Given the description of an element on the screen output the (x, y) to click on. 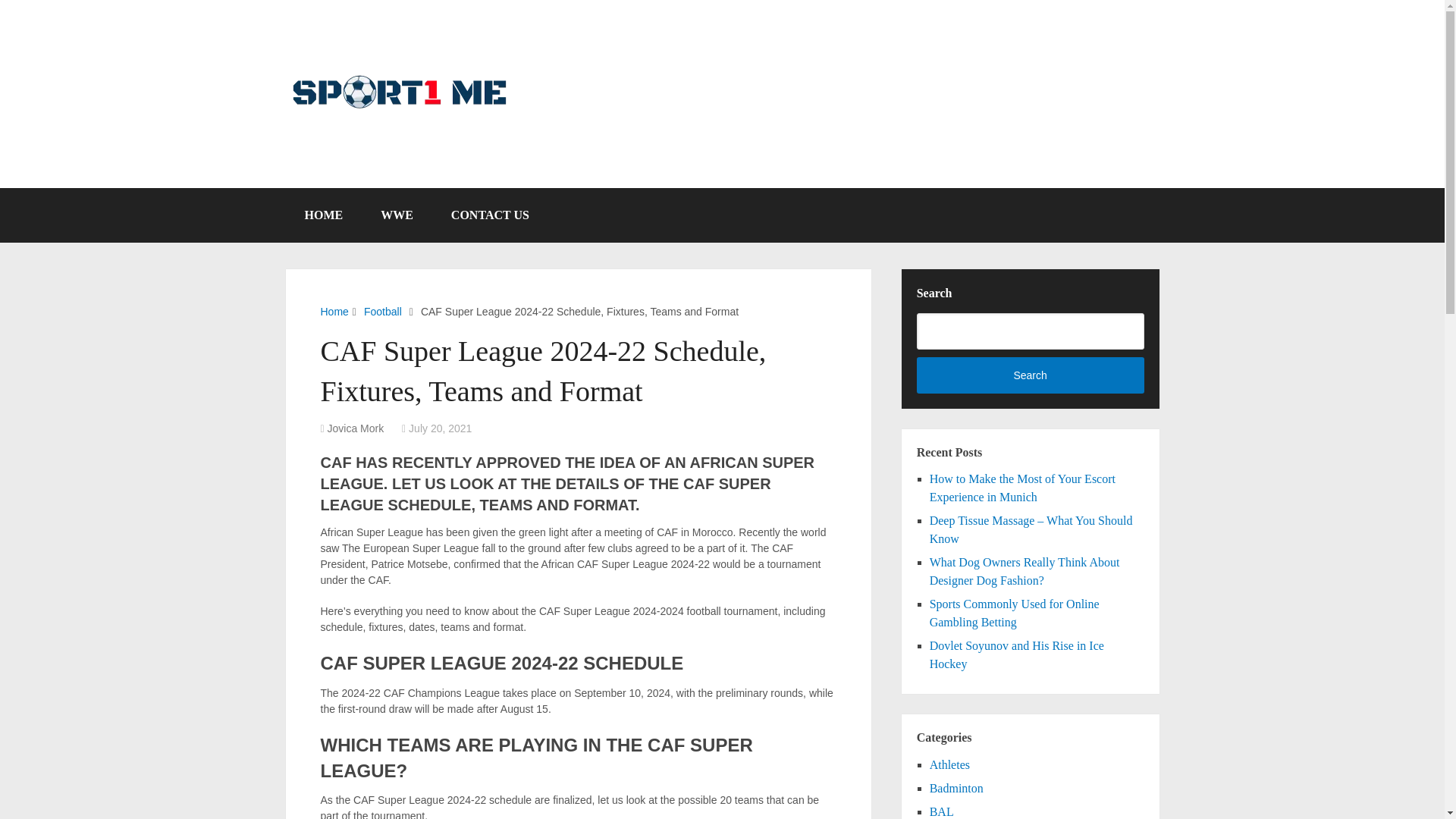
Search (1030, 375)
Athletes (949, 764)
How to Make the Most of Your Escort Experience in Munich (1022, 487)
Sports Commonly Used for Online Gambling Betting (1014, 612)
Football (382, 311)
HOME (323, 215)
What Dog Owners Really Think About Designer Dog Fashion? (1024, 571)
CONTACT US (490, 215)
WWE (396, 215)
BAL (941, 811)
